Given the description of an element on the screen output the (x, y) to click on. 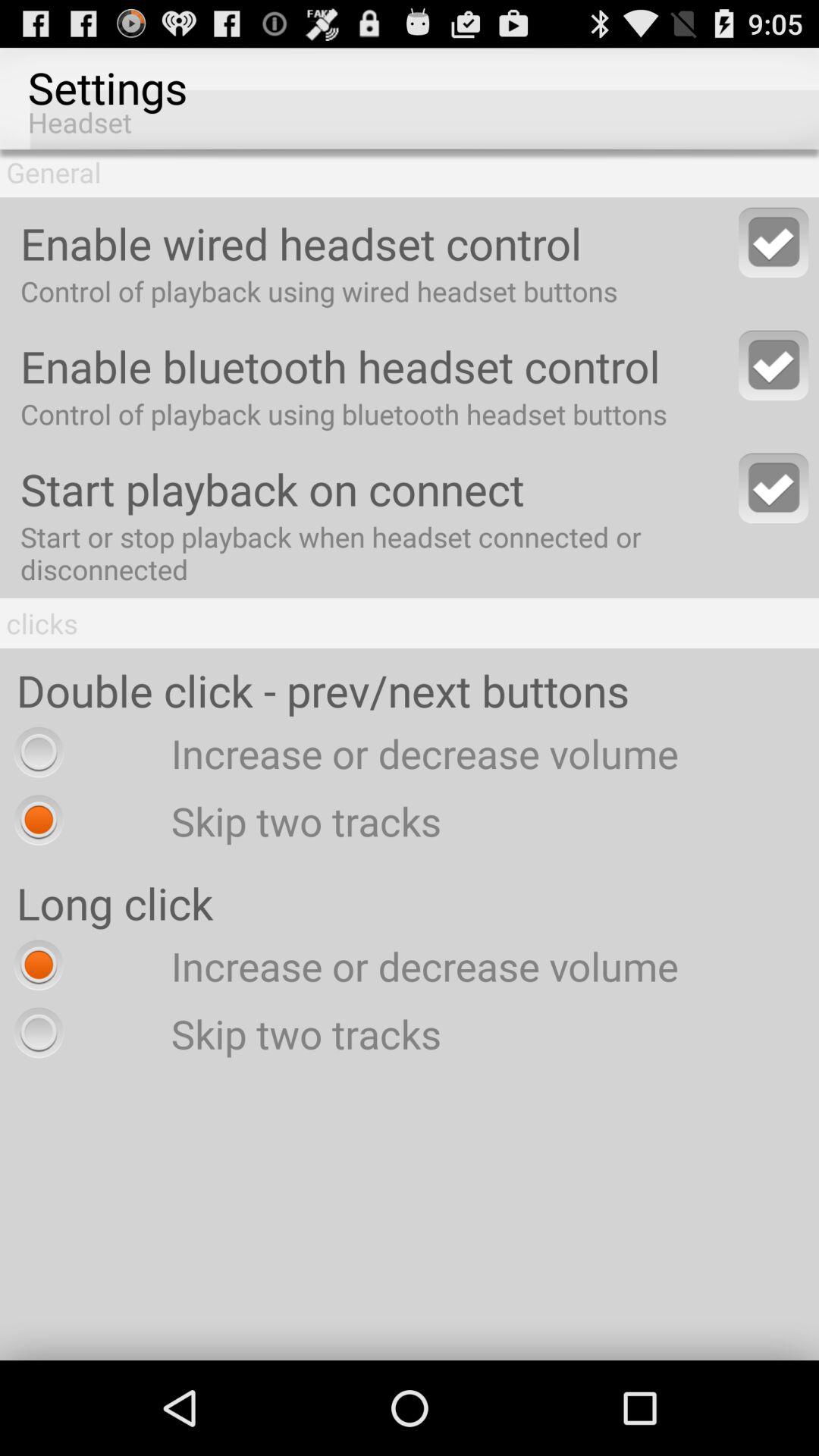
start playback on connect (773, 488)
